Given the description of an element on the screen output the (x, y) to click on. 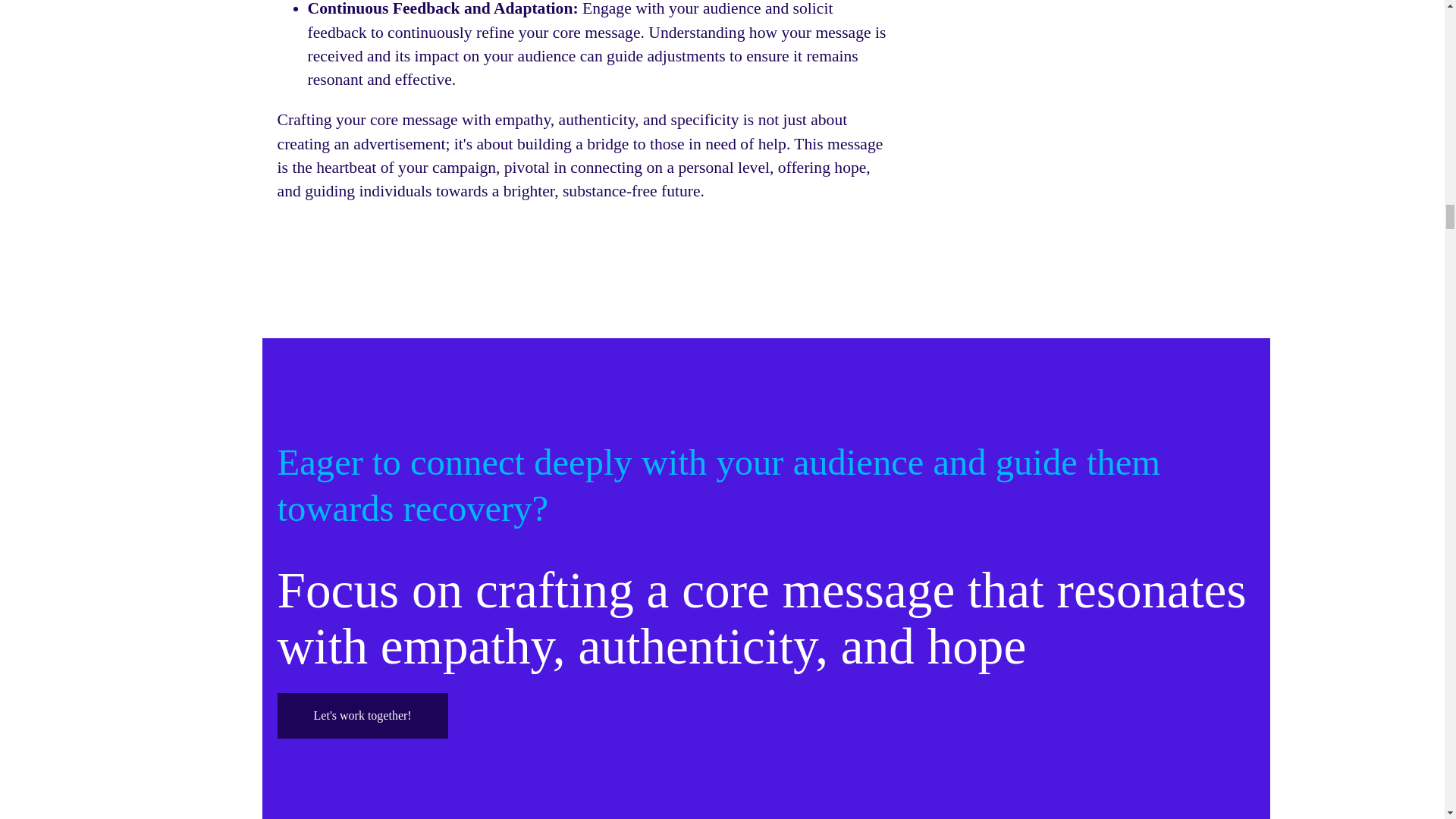
Let's work together! (363, 715)
